Given the description of an element on the screen output the (x, y) to click on. 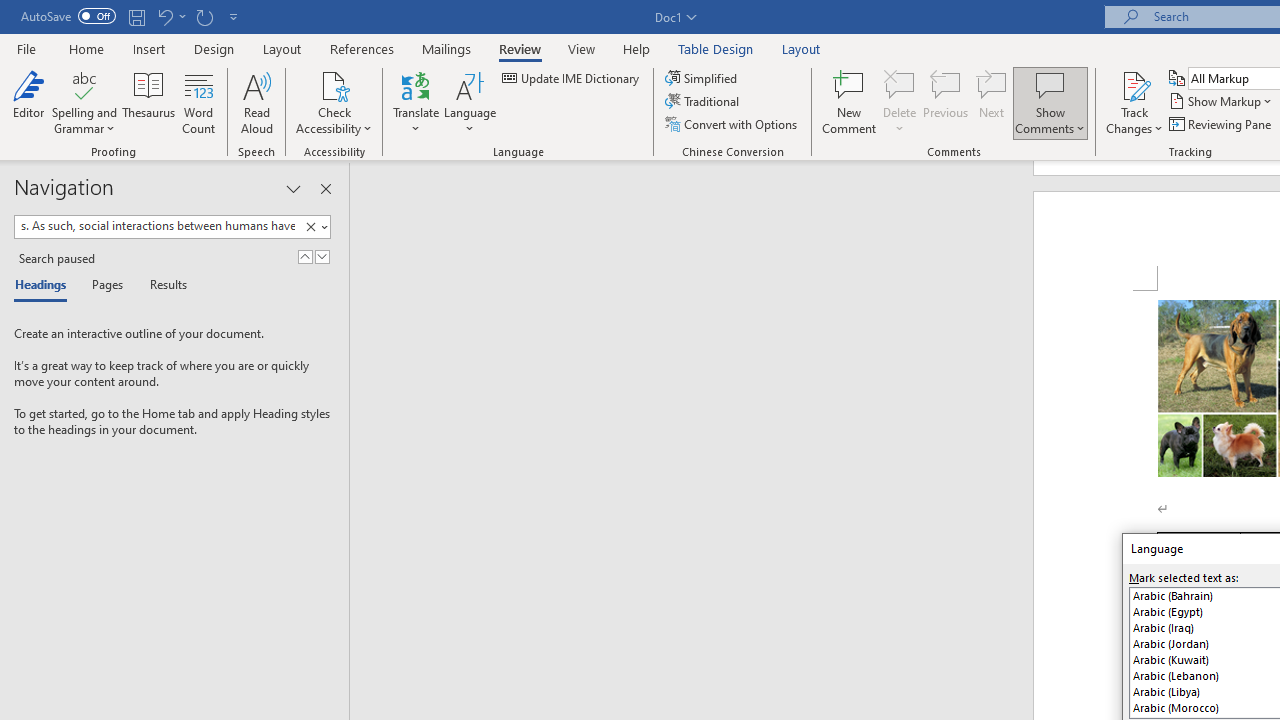
Word Count (198, 102)
Previous Result (304, 256)
Language (470, 102)
Show Comments (1050, 102)
Track Changes (1134, 84)
Next Result (322, 256)
Convert with Options... (732, 124)
